Given the description of an element on the screen output the (x, y) to click on. 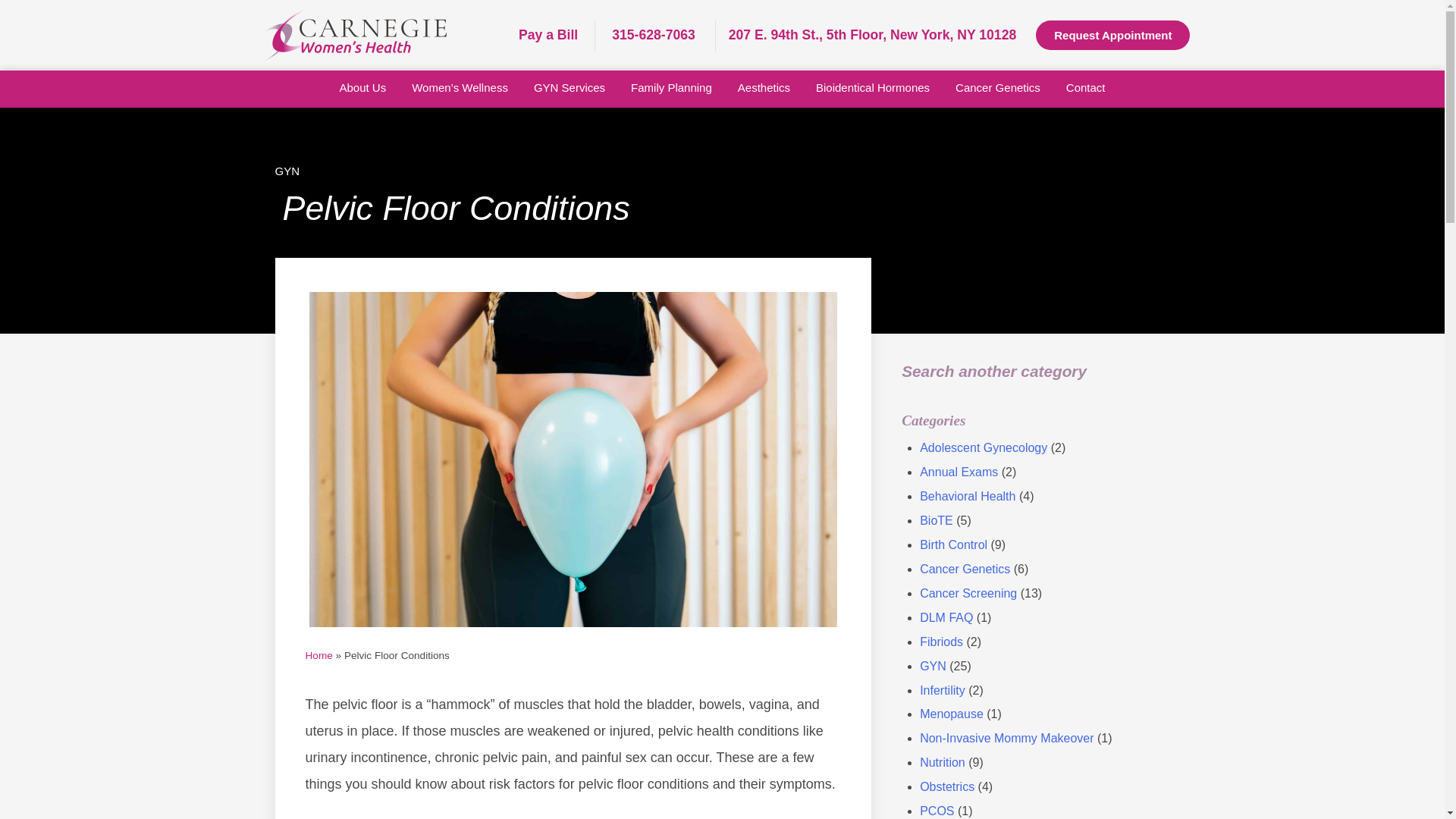
Request Appointment (1112, 34)
207 E. 94th St., 5th Floor, New York, NY 10128 (877, 35)
About Us (362, 87)
Pay a Bill (547, 35)
315-628-7063 (658, 35)
GYN Services (569, 87)
